Given the description of an element on the screen output the (x, y) to click on. 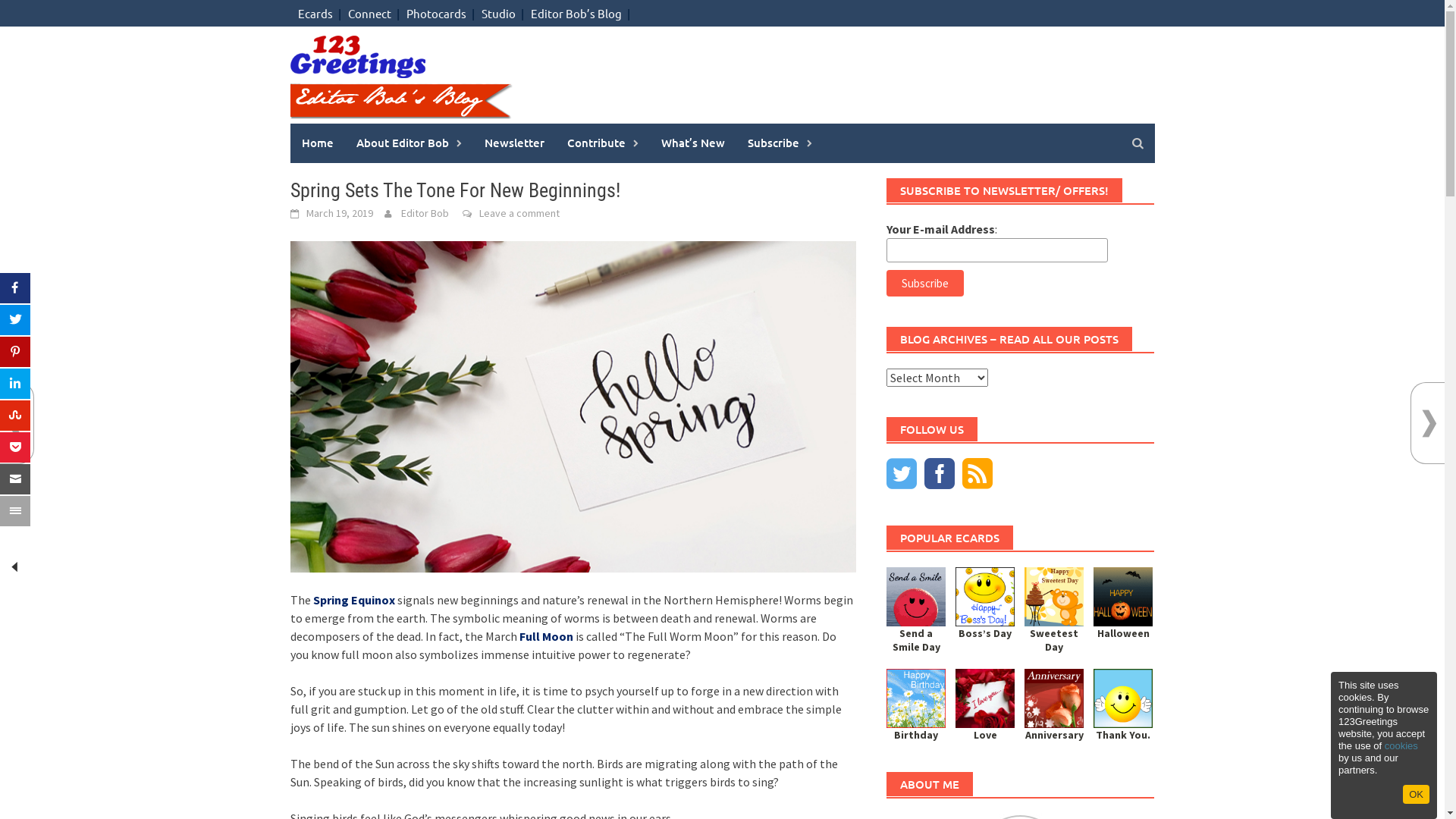
OK Element type: text (1415, 793)
Wishing Joy And Happiness! Element type: hover (1053, 698)
Send a Smile Day Element type: text (915, 639)
Spring Equinox Element type: text (353, 599)
Studio Element type: text (497, 13)
Subscribe Element type: text (778, 143)
Thank You So Very Much. Element type: hover (1122, 698)
Halloween Element type: text (1122, 633)
Home Element type: text (316, 142)
Contribute Element type: text (602, 143)
Thank You. Element type: text (1122, 734)
Editor Bob Element type: text (424, 212)
Newsletter Element type: text (514, 142)
Wish You Only Smiles And... Element type: hover (915, 698)
Editor Bob's Blog Element type: hover (401, 73)
Halloween Wishes! Element type: hover (1122, 596)
March 19, 2019 Element type: text (339, 212)
Boss's Day Smiles And Wishes! Element type: hover (984, 596)
Sending Smile Across Miles! Element type: hover (915, 596)
Love You Forever And Ever... Element type: hover (984, 698)
Leave a comment Element type: text (519, 212)
Full Moon Element type: text (545, 635)
Sweetest Day Element type: text (1053, 639)
Photocards Element type: text (435, 13)
cookies Element type: text (1401, 745)
Love Element type: text (984, 734)
Anniversary Element type: text (1053, 734)
Birthday Element type: text (915, 734)
Connect Element type: text (368, 13)
Ecards Element type: text (314, 13)
Cute Wish On Sweetest Day! Element type: hover (1053, 596)
About Editor Bob Element type: text (408, 143)
